Given the description of an element on the screen output the (x, y) to click on. 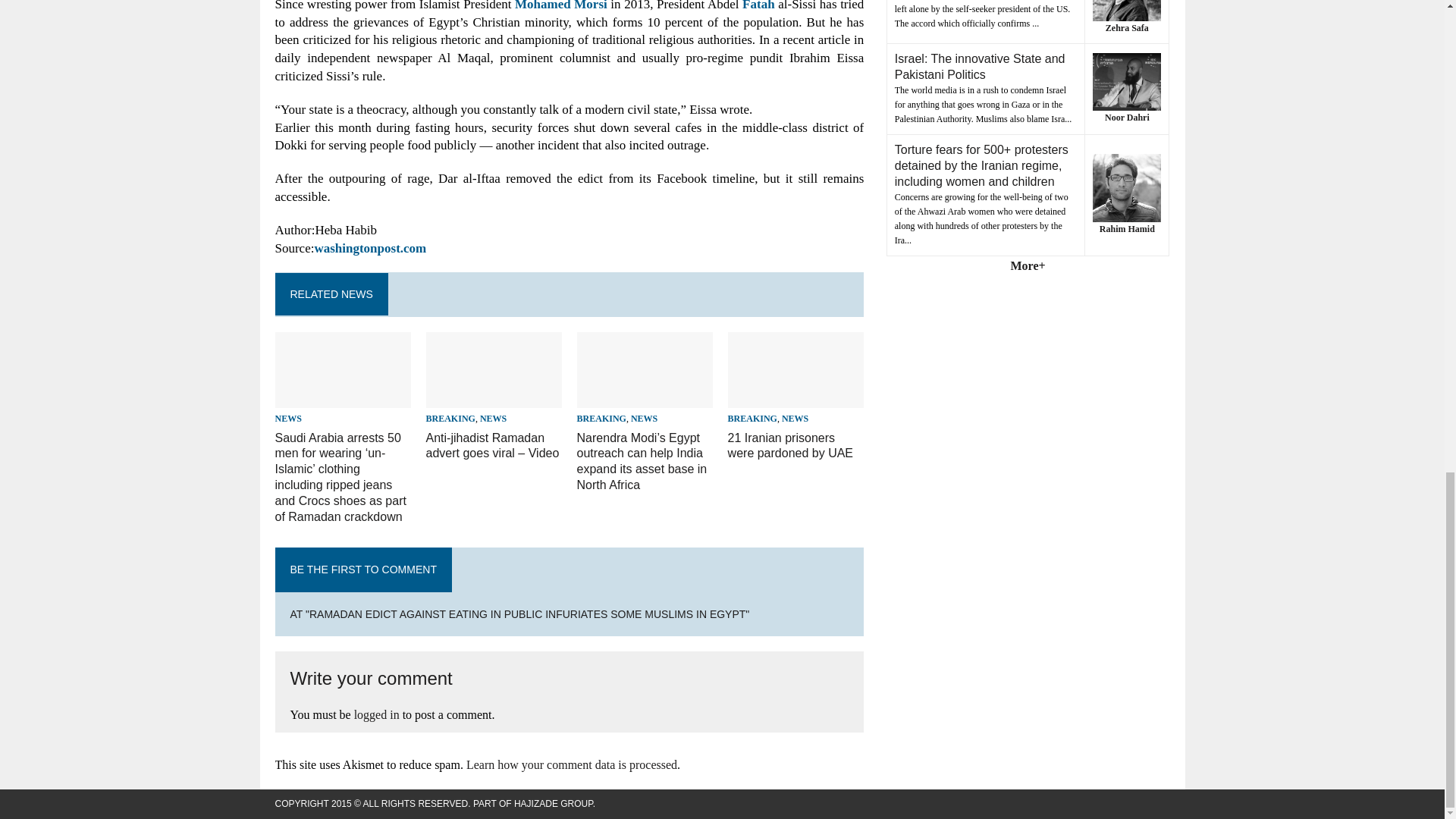
NEWS (288, 418)
washingtonpost.com (370, 247)
Fatah (758, 5)
Mohamed Morsi (561, 5)
